Given the description of an element on the screen output the (x, y) to click on. 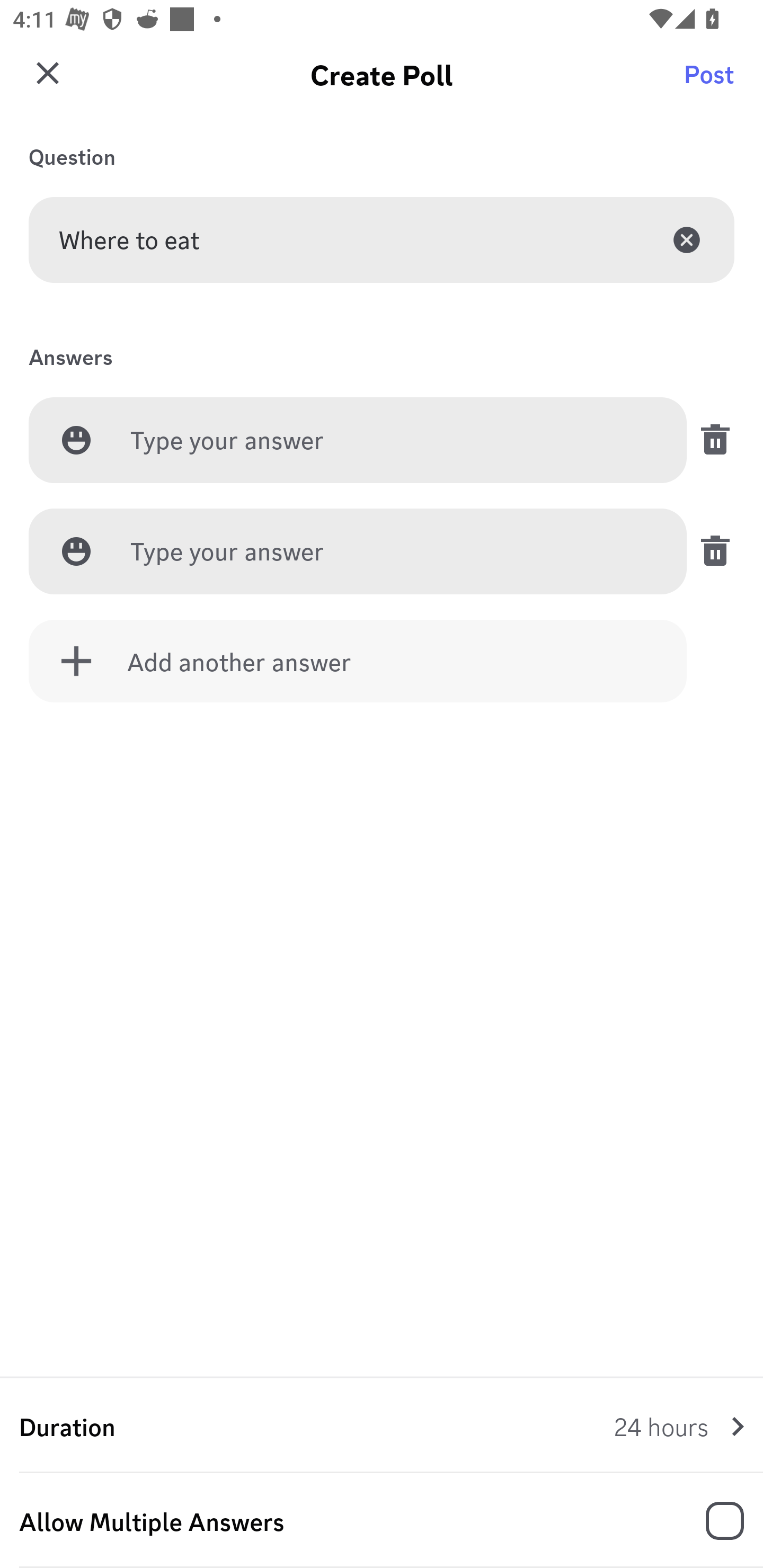
general (channel) general general (channel) (387, 82)
Back (44, 82)
Search (711, 82)
Where to eat Question (381, 239)
Clear (686, 239)
Add media, answer 1 (75, 439)
Remove answer 1 (710, 439)
Type your answer Answer 1 (393, 440)
Add media, answer 2 (75, 550)
Remove answer 2 (710, 550)
Type your answer Answer 2 (393, 551)
Add another answer (357, 660)
Duration 24 hours Duration 24 hours (381, 1425)
Allow Multiple Answers,  Allow Multiple Answers (381, 1520)
Record Voice Message (711, 1522)
